Given the description of an element on the screen output the (x, y) to click on. 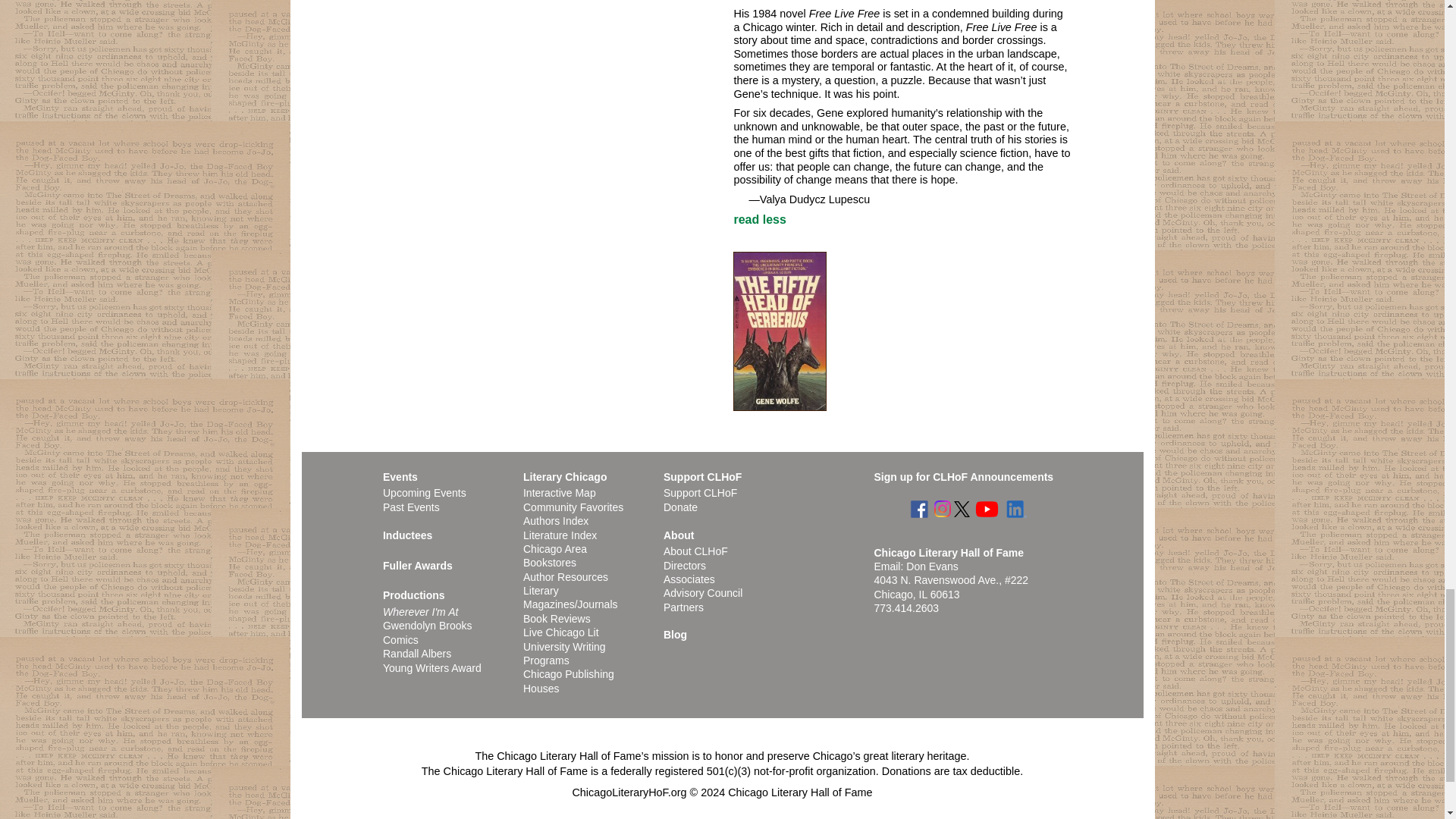
Chicago Classics (572, 507)
Authors Index (555, 521)
Support CLHoF (699, 492)
Chicago Live Literature (560, 632)
Advisory Council (702, 592)
Fuller Awards (417, 565)
Board of Directors (684, 565)
Donate (680, 507)
Comics (400, 639)
Literature Index (559, 535)
